Given the description of an element on the screen output the (x, y) to click on. 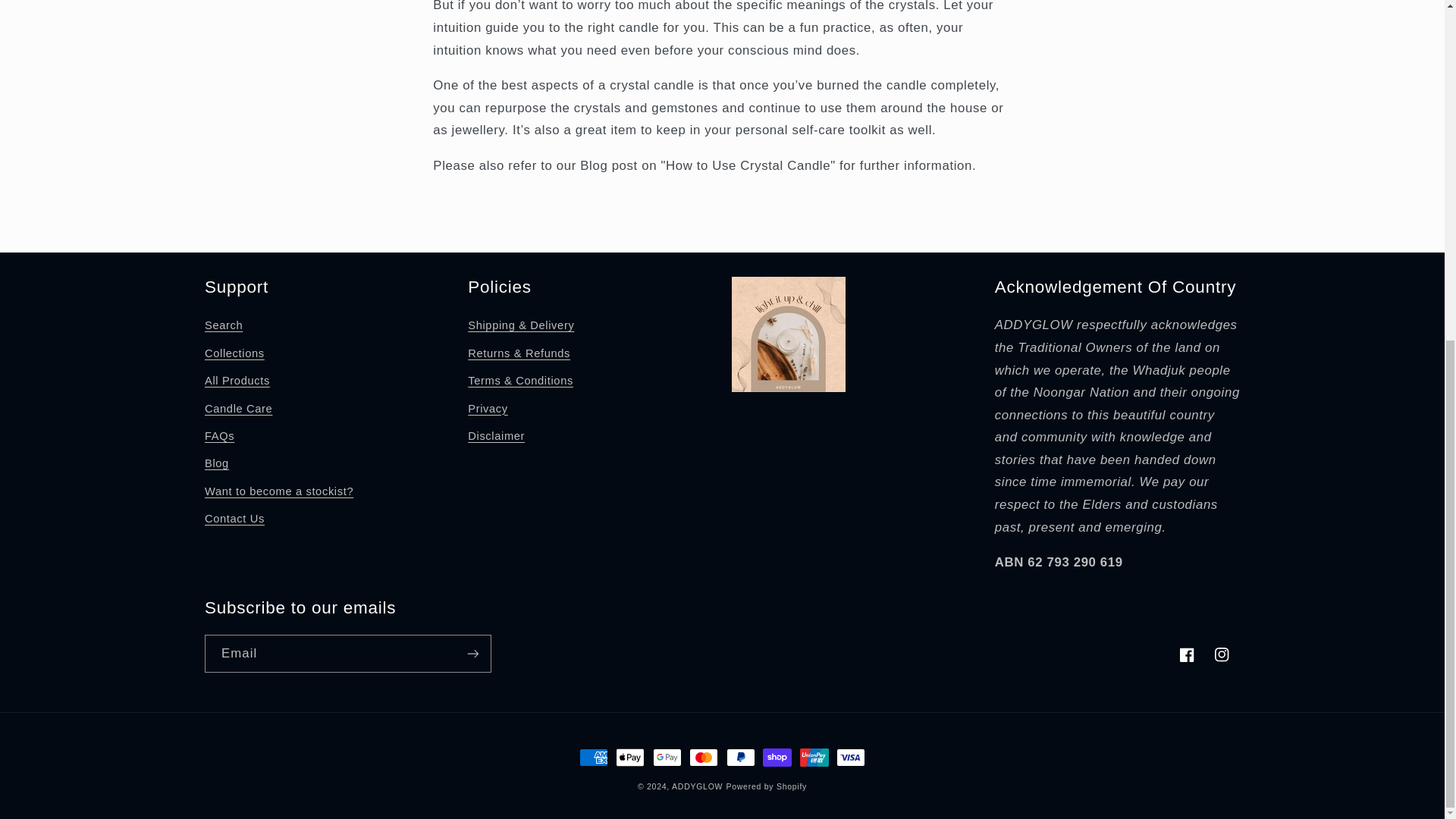
Want to become a stockist? (279, 491)
FAQs (219, 436)
Collections (234, 352)
Search (224, 327)
Candle Care (238, 408)
Blog (216, 463)
All Products (237, 380)
Contact Us (234, 519)
